Given the description of an element on the screen output the (x, y) to click on. 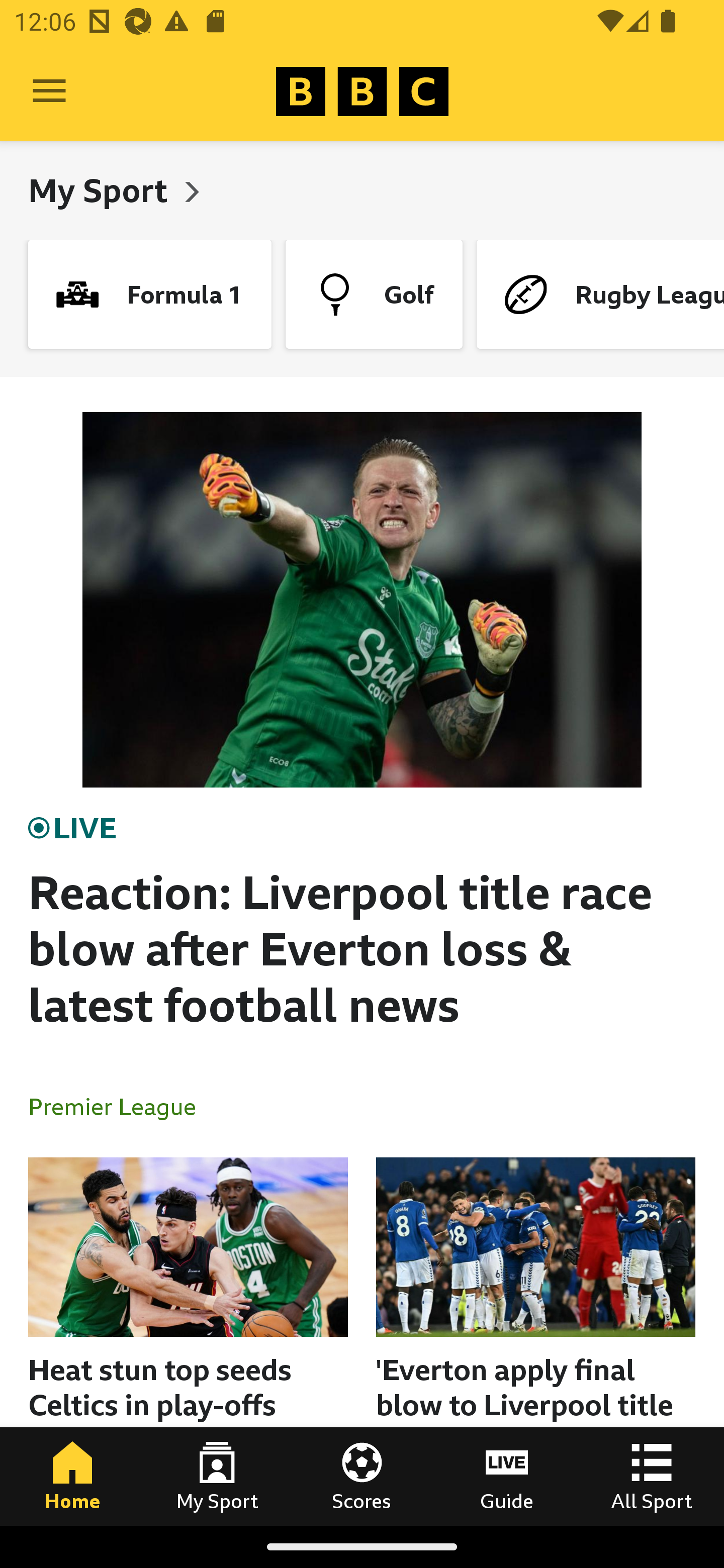
Open Menu (49, 91)
My Sport (101, 190)
Premier League In the section Premier League (119, 1106)
My Sport (216, 1475)
Scores (361, 1475)
Guide (506, 1475)
All Sport (651, 1475)
